Given the description of an element on the screen output the (x, y) to click on. 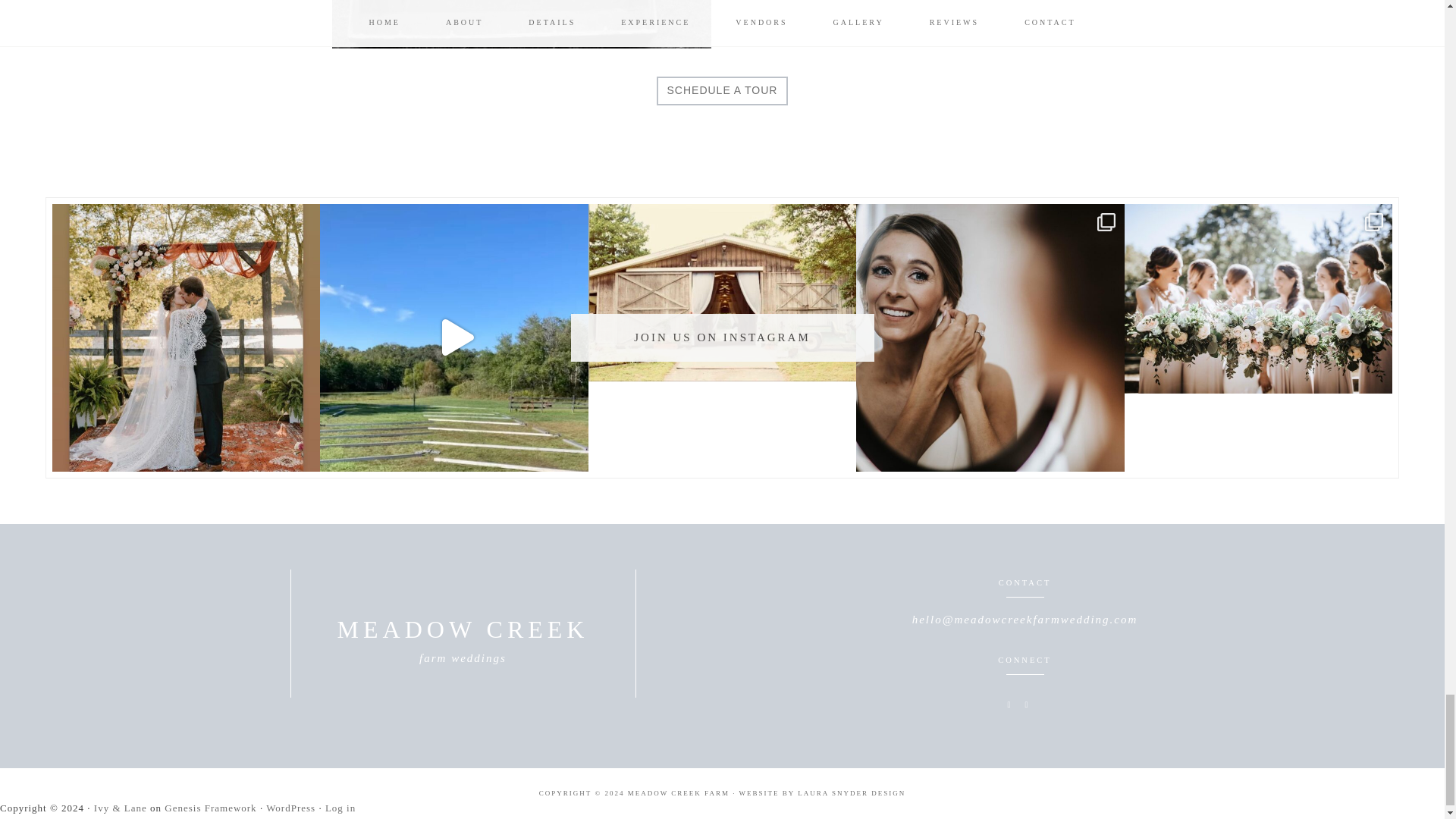
Genesis Framework (210, 808)
WordPress (290, 808)
LAURA SNYDER DESIGN (851, 792)
SCHEDULE A TOUR (722, 90)
Log in (339, 808)
